Given the description of an element on the screen output the (x, y) to click on. 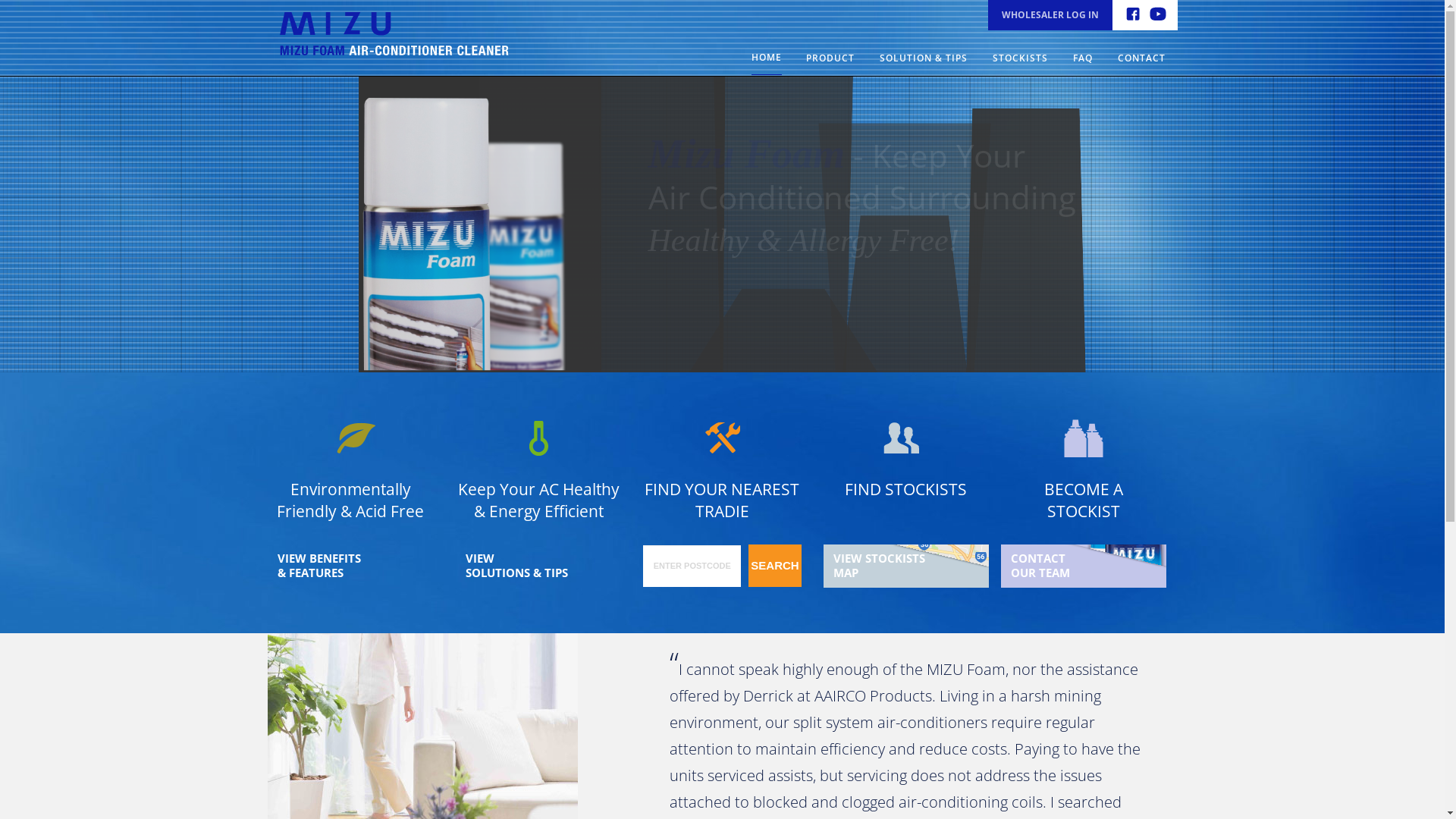
VIEW BENEFITS
& FEATURES Element type: text (350, 565)
STOCKISTS Element type: text (1019, 56)
SOLUTION & TIPS Element type: text (923, 56)
HOME Element type: text (765, 56)
WHOLESALER LOG IN Element type: text (1050, 15)
VIEW STOCKISTS
MAP Element type: text (905, 565)
VIEW
SOLUTIONS & TIPS Element type: text (538, 565)
FAQ Element type: text (1082, 56)
PRODUCT Element type: text (829, 56)
SEARCH Element type: text (774, 565)
CONTACT Element type: text (1141, 56)
CONTACT
OUR TEAM Element type: text (1083, 565)
